Given the description of an element on the screen output the (x, y) to click on. 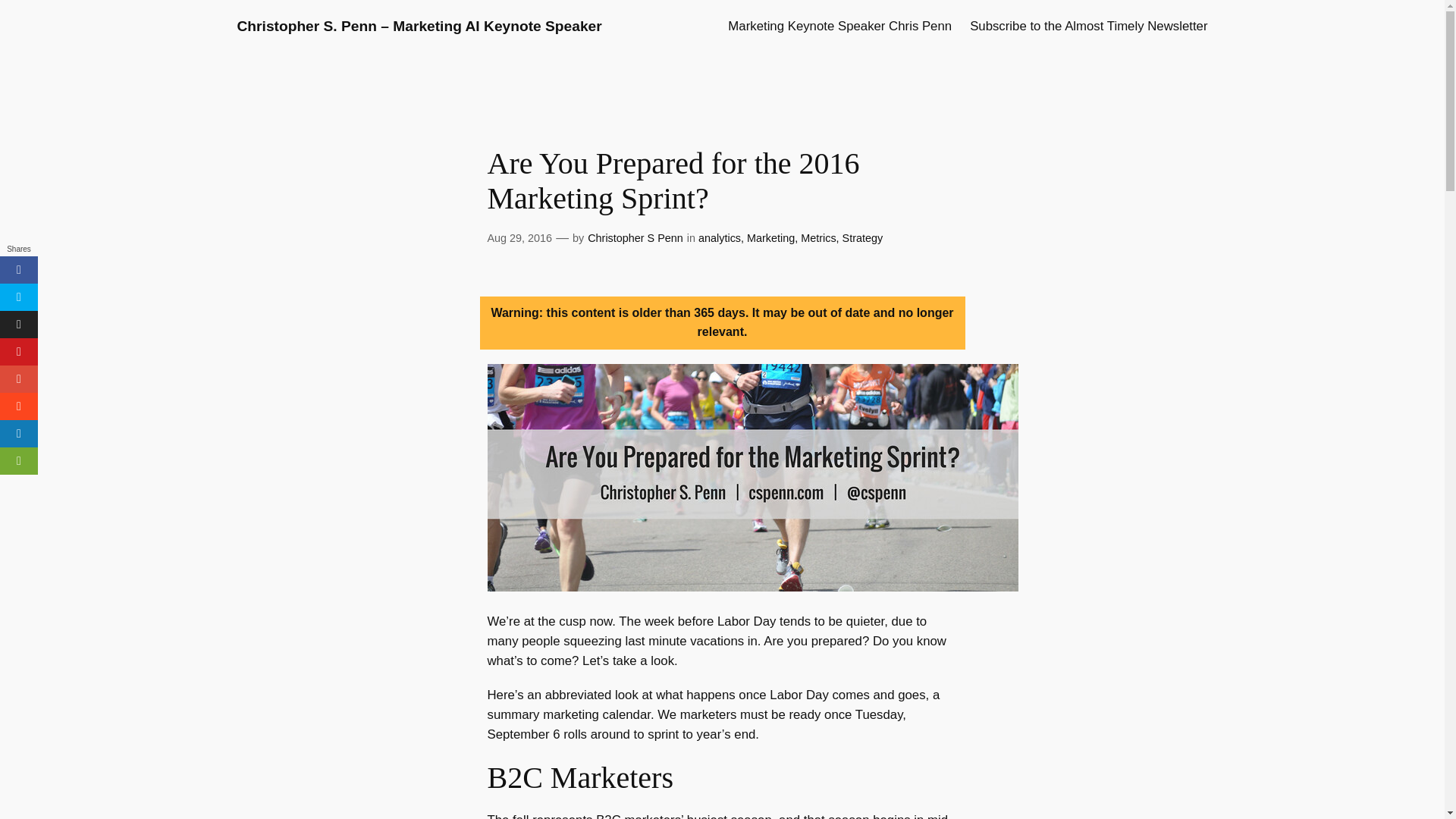
Metrics (817, 237)
marketing sprint.png (751, 586)
Strategy (863, 237)
Christopher S Penn (635, 237)
Aug 29, 2016 (518, 237)
Marketing Keynote Speaker Chris Penn (840, 26)
Are You Prepared for the 2016 Marketing Sprint? 1 (751, 477)
Marketing (770, 237)
analytics (719, 237)
Subscribe to the Almost Timely Newsletter (1088, 26)
